Given the description of an element on the screen output the (x, y) to click on. 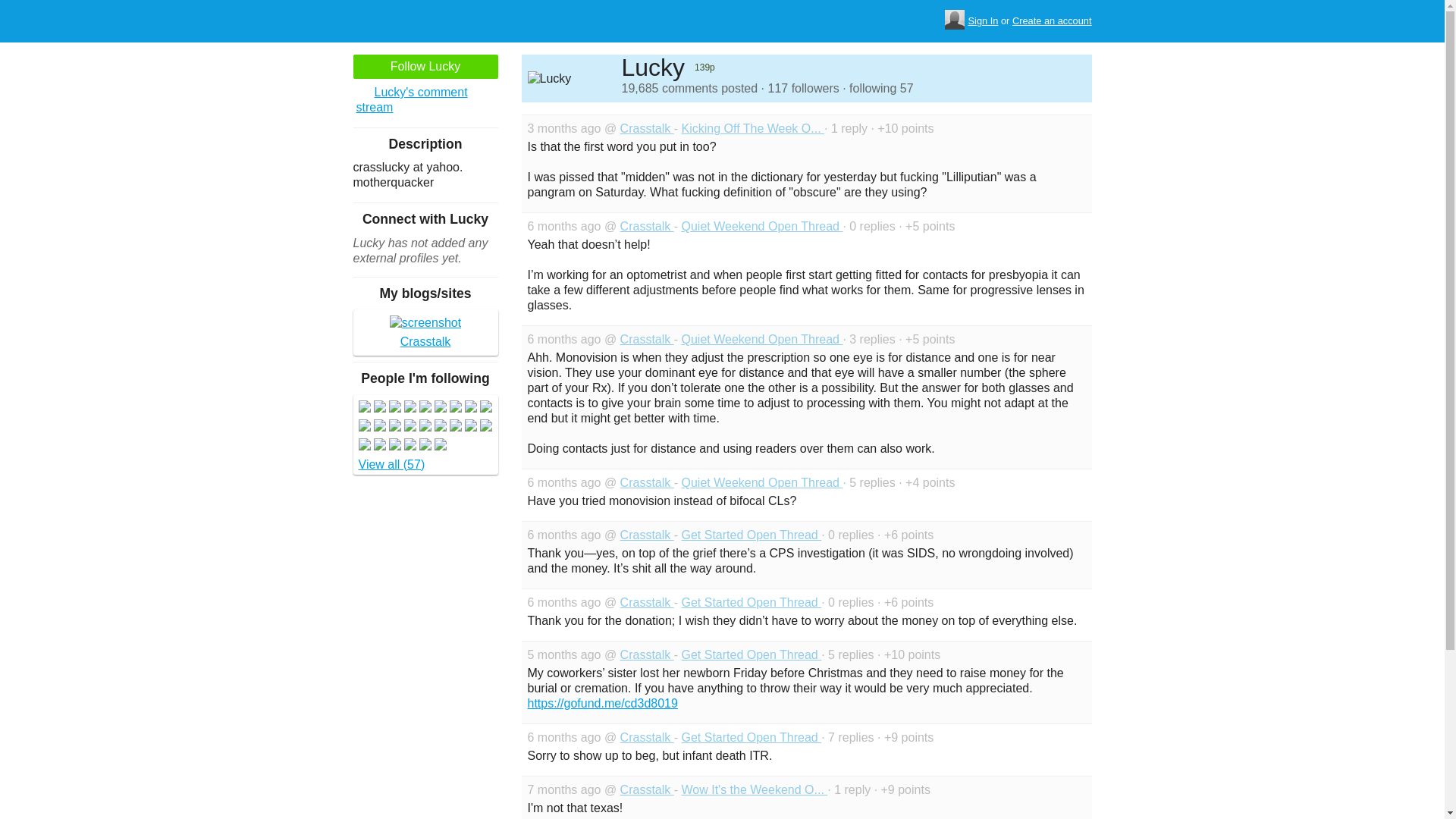
Crasstalk (647, 534)
alluson (424, 408)
blix78 (424, 426)
Follow Lucky (425, 66)
Quiet Weekend Open Thread (762, 226)
cletar (470, 426)
Create an account (1051, 21)
DQ2Elecboogaloo (378, 426)
ctrlaltdelight (394, 408)
DorothyBarker (378, 408)
ShorterDolemite (485, 408)
bobgeorge (408, 426)
Quiet Weekend Open Thread (762, 481)
Kicking Off The Week O... (752, 128)
Lucky's comment stream (425, 99)
